Given the description of an element on the screen output the (x, y) to click on. 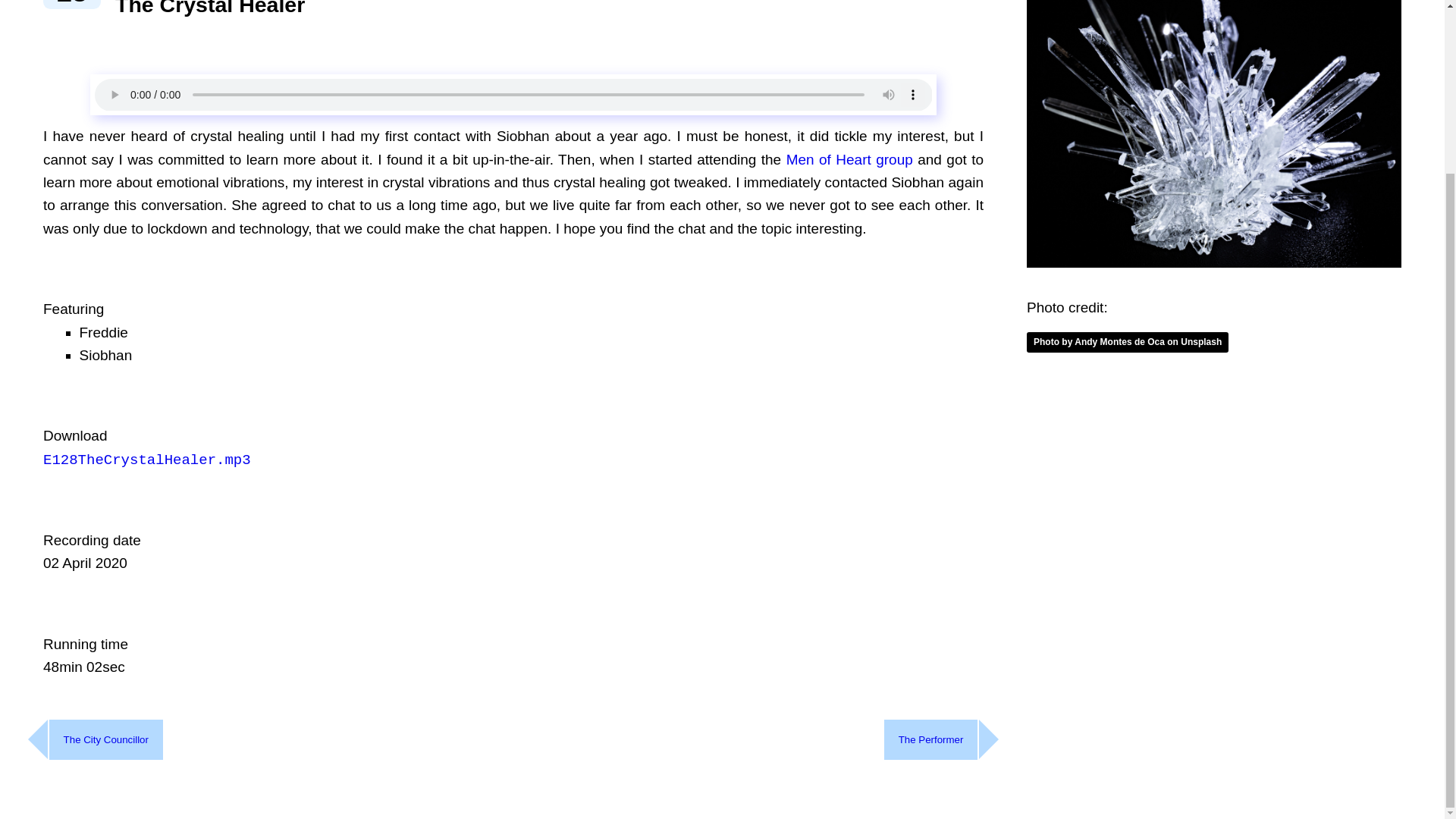
The Performer (930, 739)
Photo by Andy Montes de Oca on Unsplash (1127, 342)
Men of Heart group (849, 159)
